Given the description of an element on the screen output the (x, y) to click on. 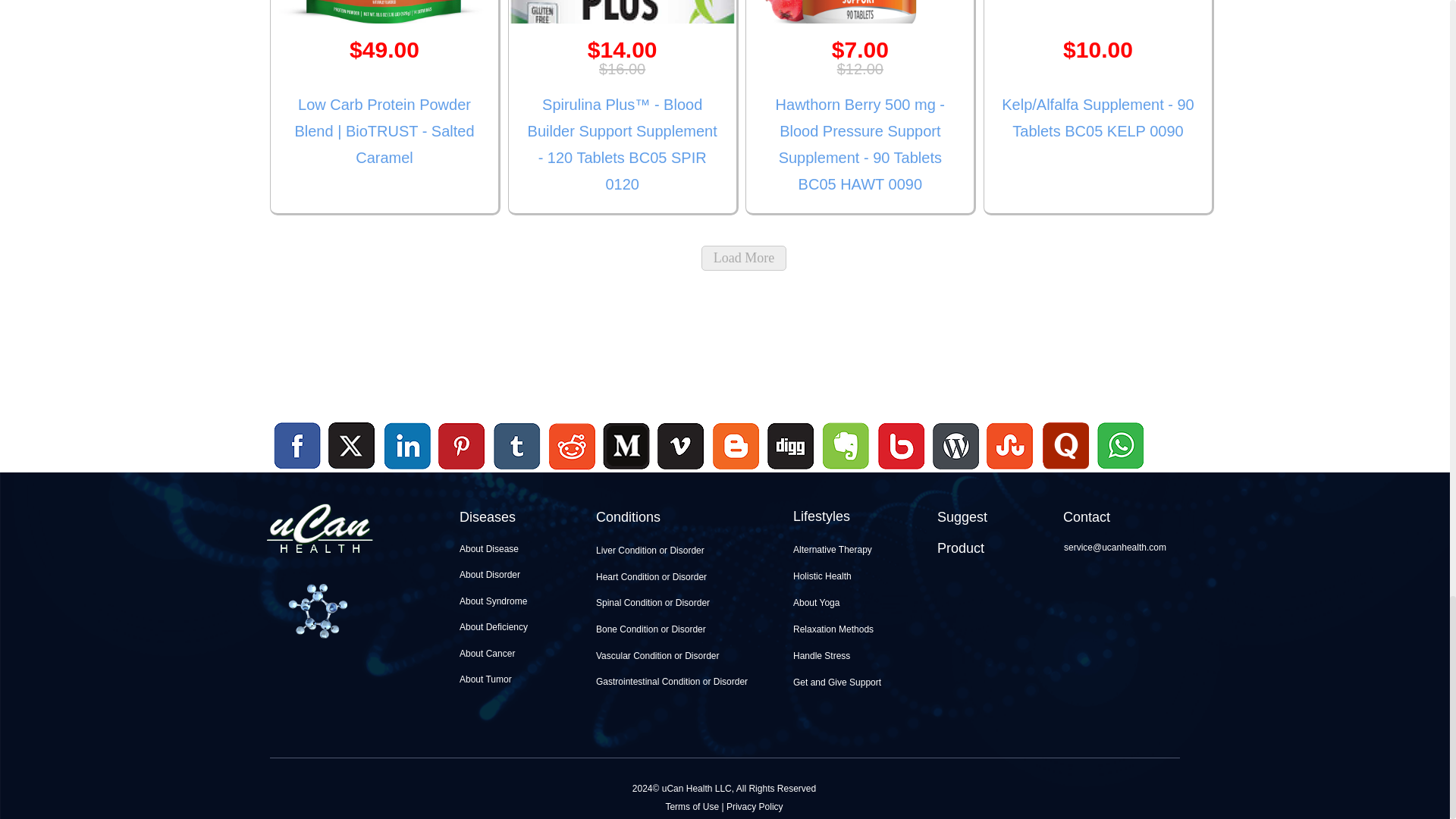
Bebo (900, 471)
Blogger (735, 471)
Vimeo (682, 446)
Digg (790, 471)
Medium (625, 471)
Reddit (571, 471)
Quora (1065, 471)
LinkedIn (408, 446)
StumbleUpon (1009, 471)
WhatsApp (1118, 471)
